Given the description of an element on the screen output the (x, y) to click on. 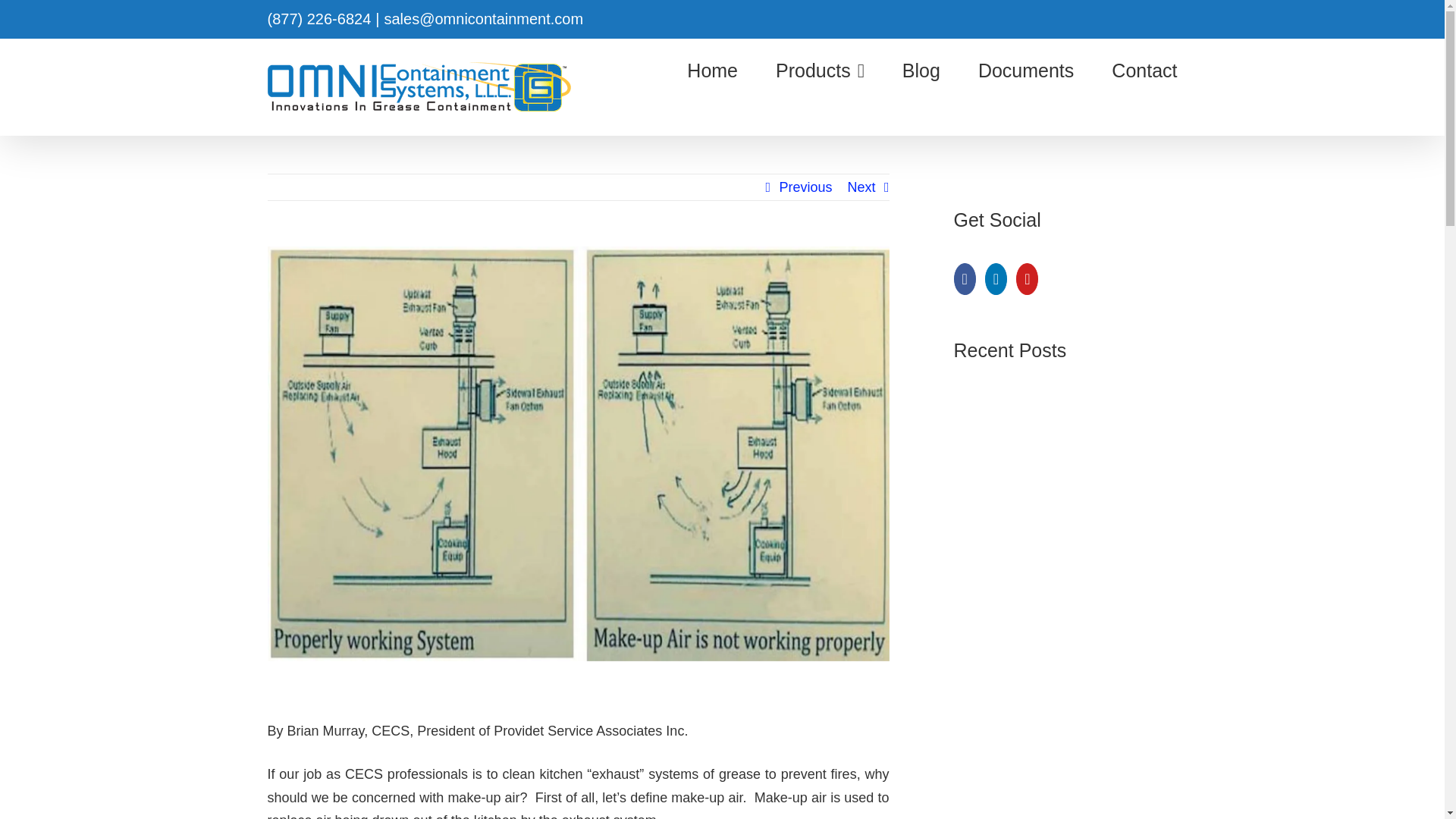
Previous (804, 186)
Products (820, 70)
Contact (1144, 70)
Next (861, 186)
Documents (1026, 70)
